Given the description of an element on the screen output the (x, y) to click on. 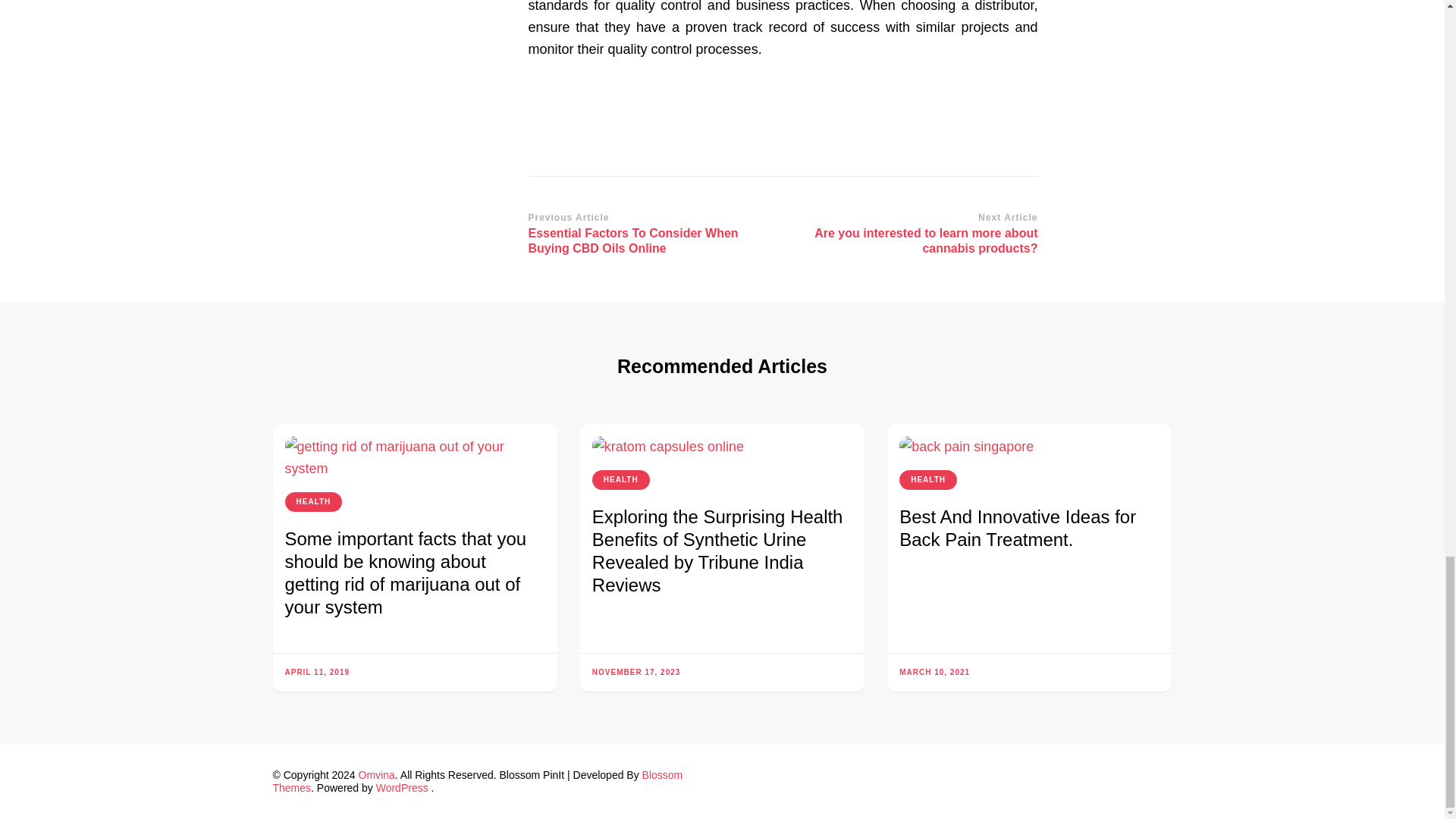
HEALTH (313, 501)
